Given the description of an element on the screen output the (x, y) to click on. 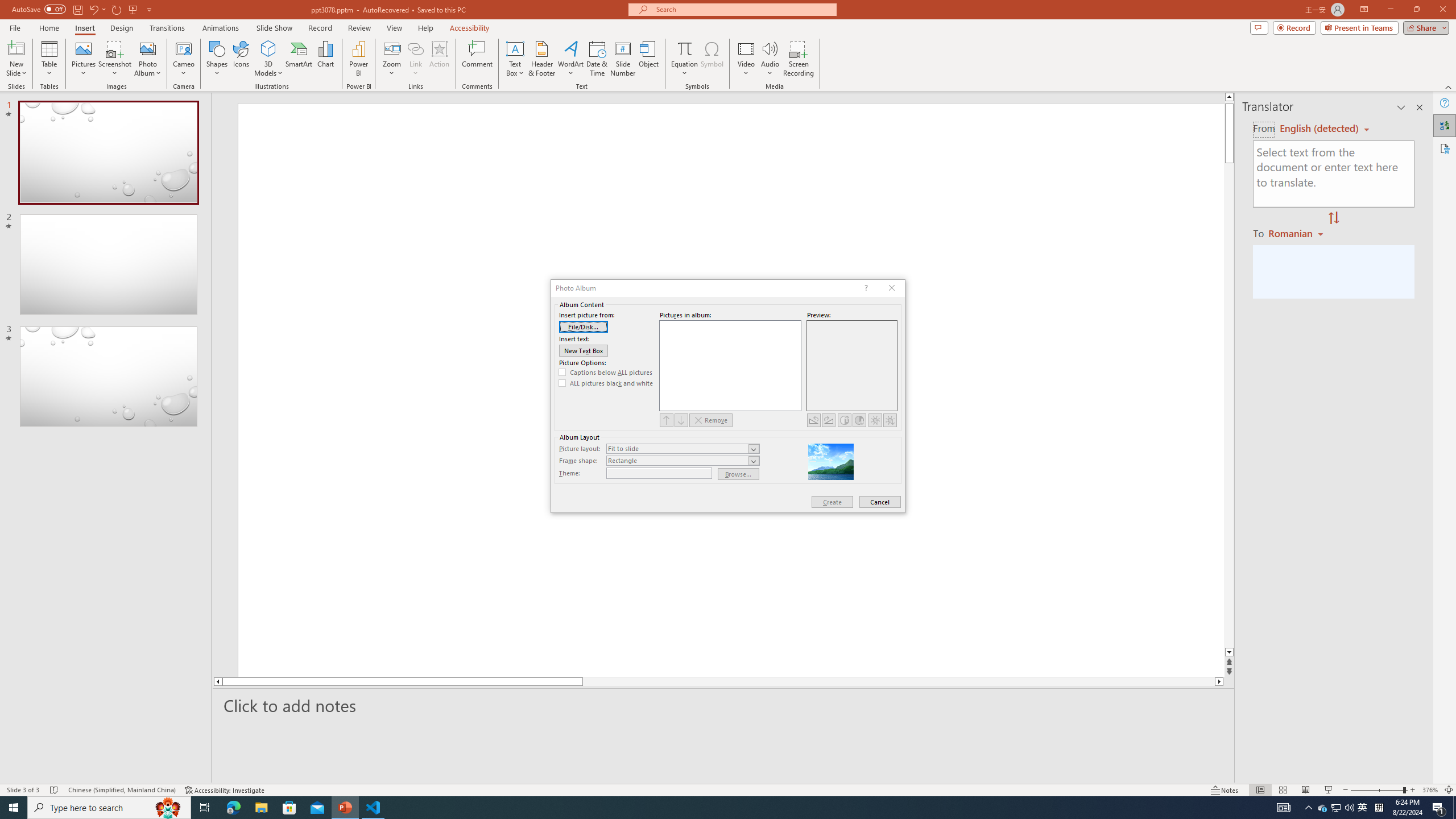
Draw Horizontal Text Box (515, 48)
Browse... (738, 473)
Photo Album... (147, 58)
Symbol... (711, 58)
Comment (476, 58)
Remove (710, 419)
Table (49, 58)
